Given the description of an element on the screen output the (x, y) to click on. 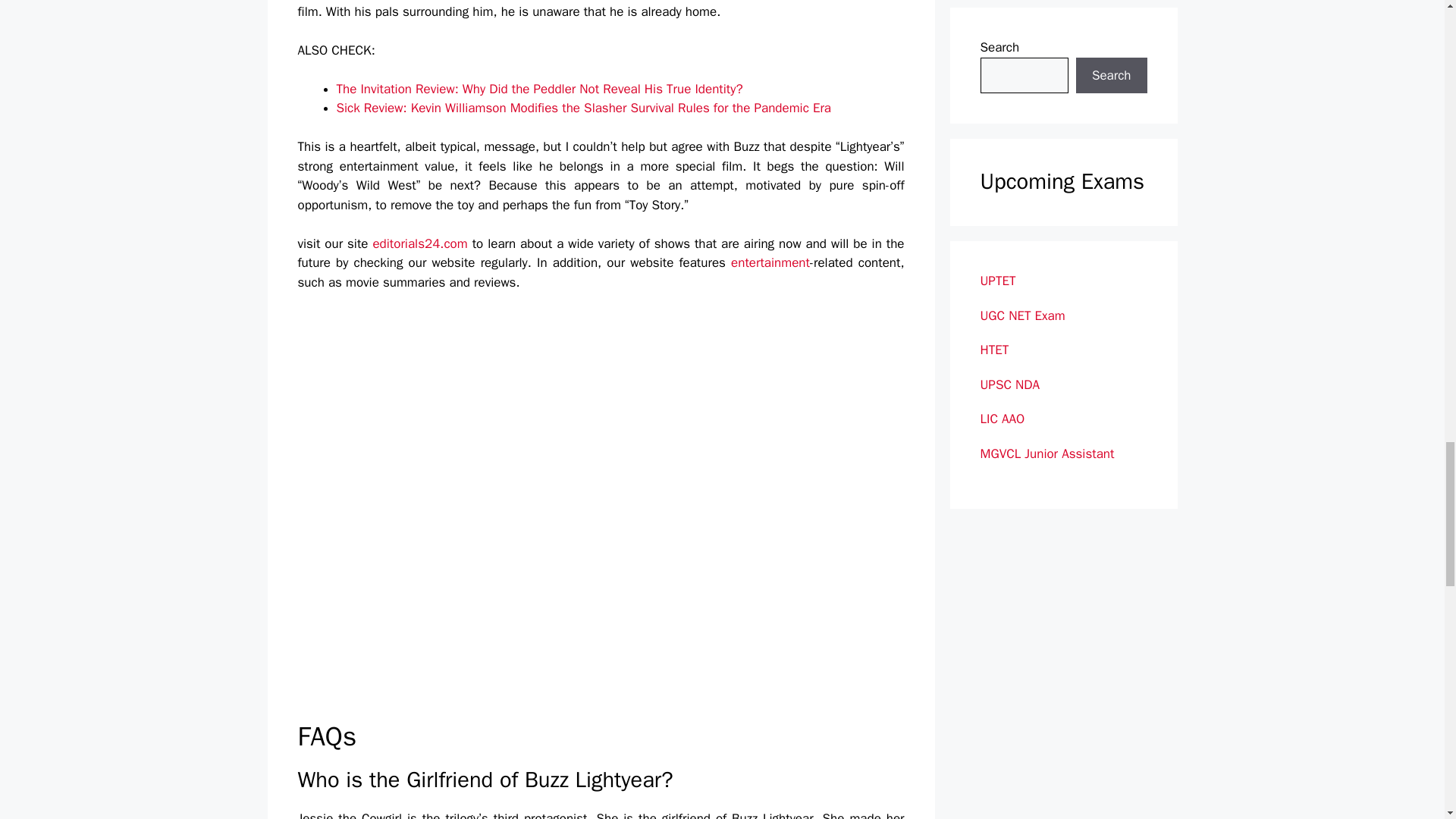
entertainment (769, 262)
editorials24.com (419, 243)
